Given the description of an element on the screen output the (x, y) to click on. 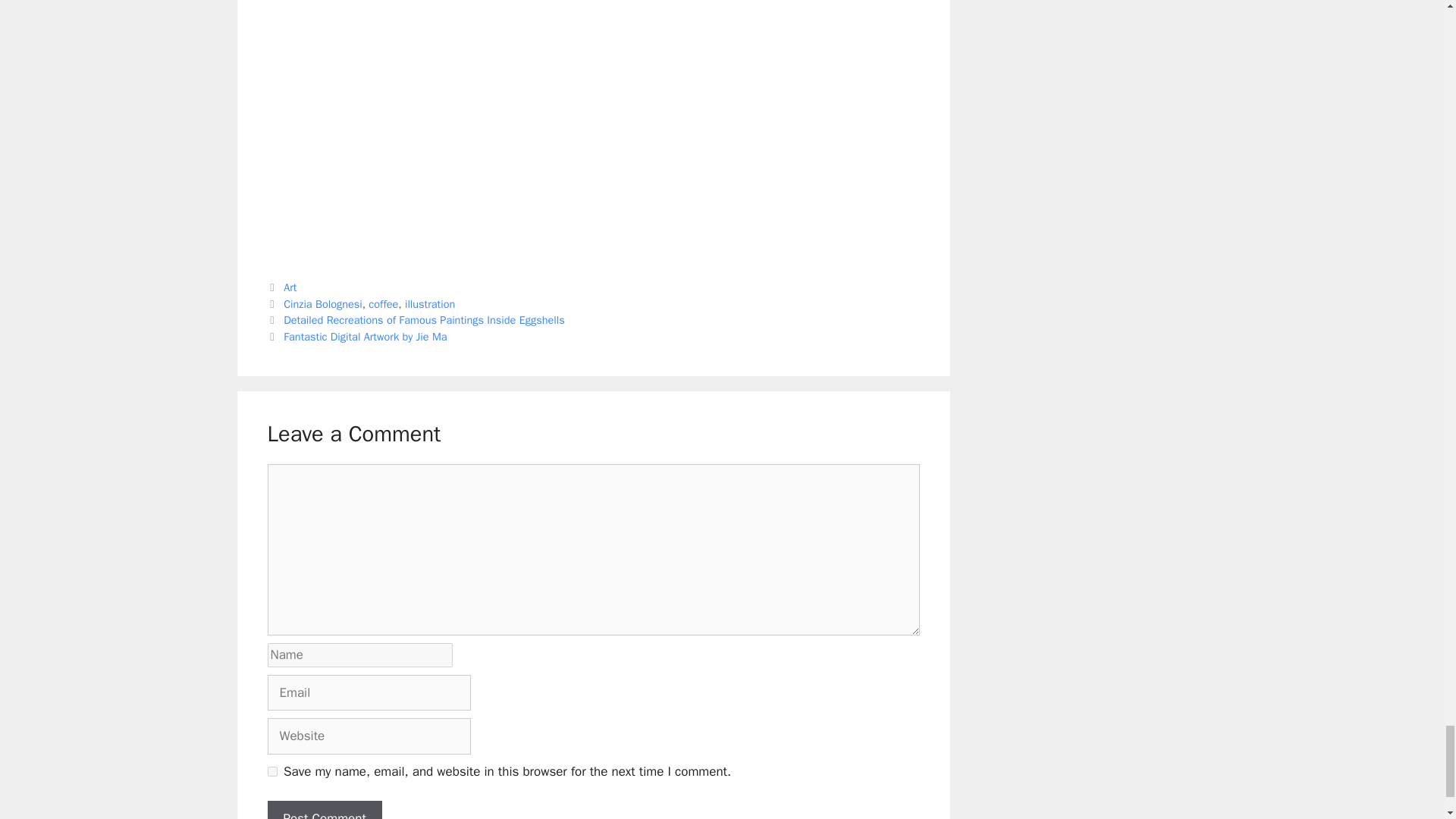
yes (271, 771)
Detailed Recreations of Famous Paintings Inside Eggshells (423, 319)
Art (290, 287)
Cinzia Bolognesi (322, 304)
illustration (429, 304)
coffee (382, 304)
Post Comment (323, 809)
Post Comment (323, 809)
Fantastic Digital Artwork by Jie Ma (364, 336)
